Given the description of an element on the screen output the (x, y) to click on. 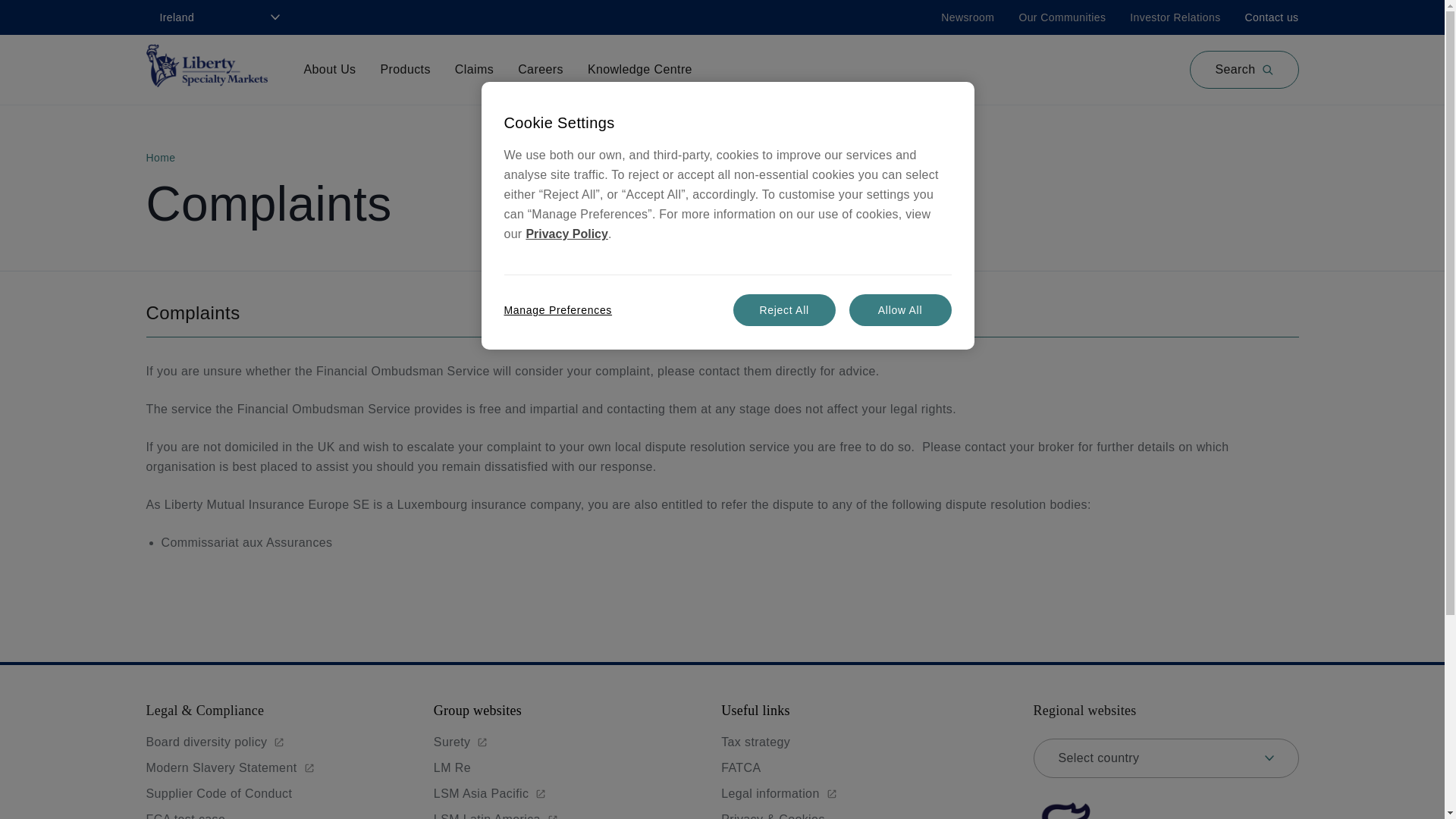
Contact us (1271, 16)
Investor Relations (1174, 16)
About Us (328, 69)
Newsroom (967, 16)
Our Communities (1061, 16)
